Given the description of an element on the screen output the (x, y) to click on. 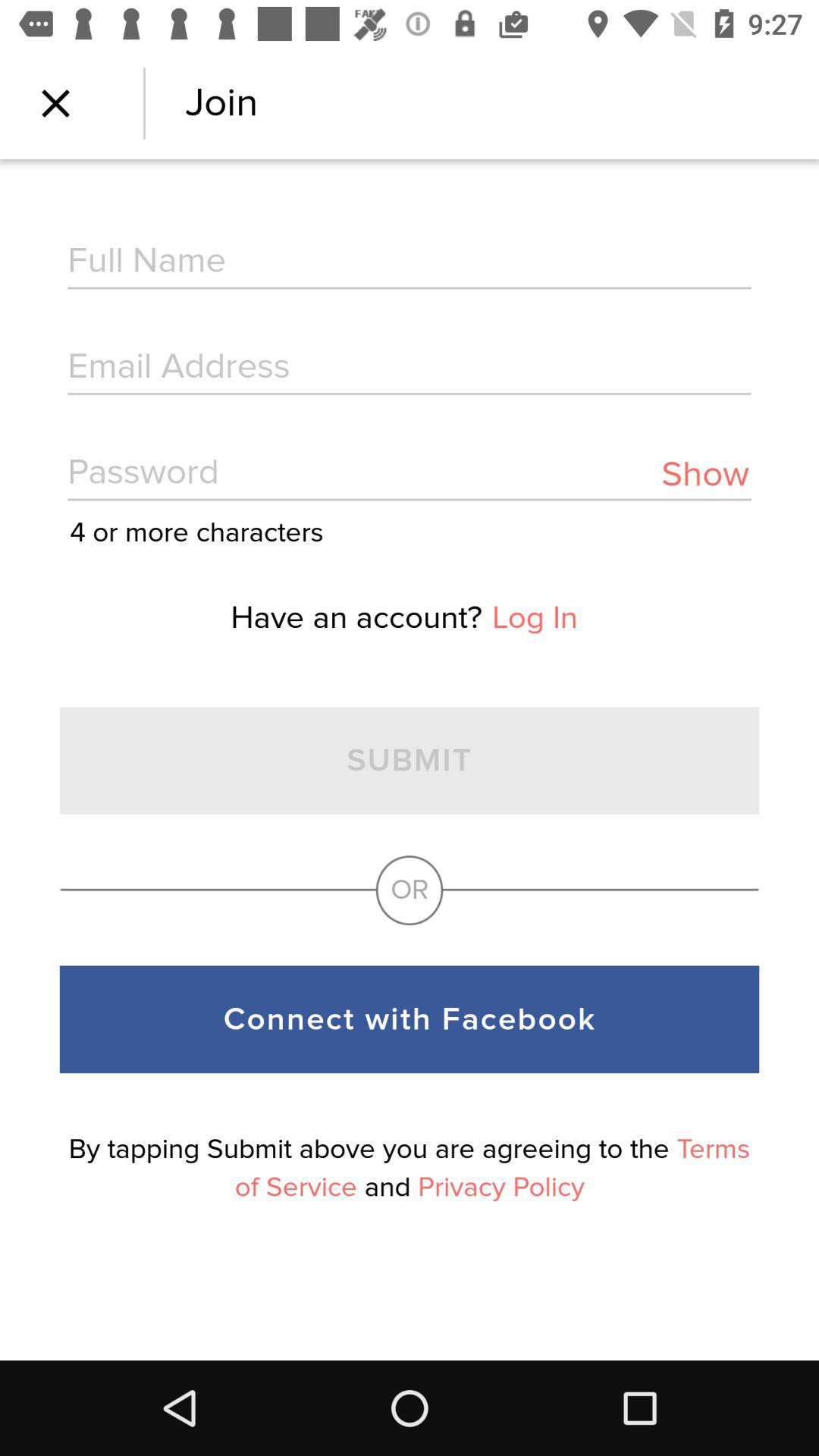
select by tapping submit (409, 1168)
